Given the description of an element on the screen output the (x, y) to click on. 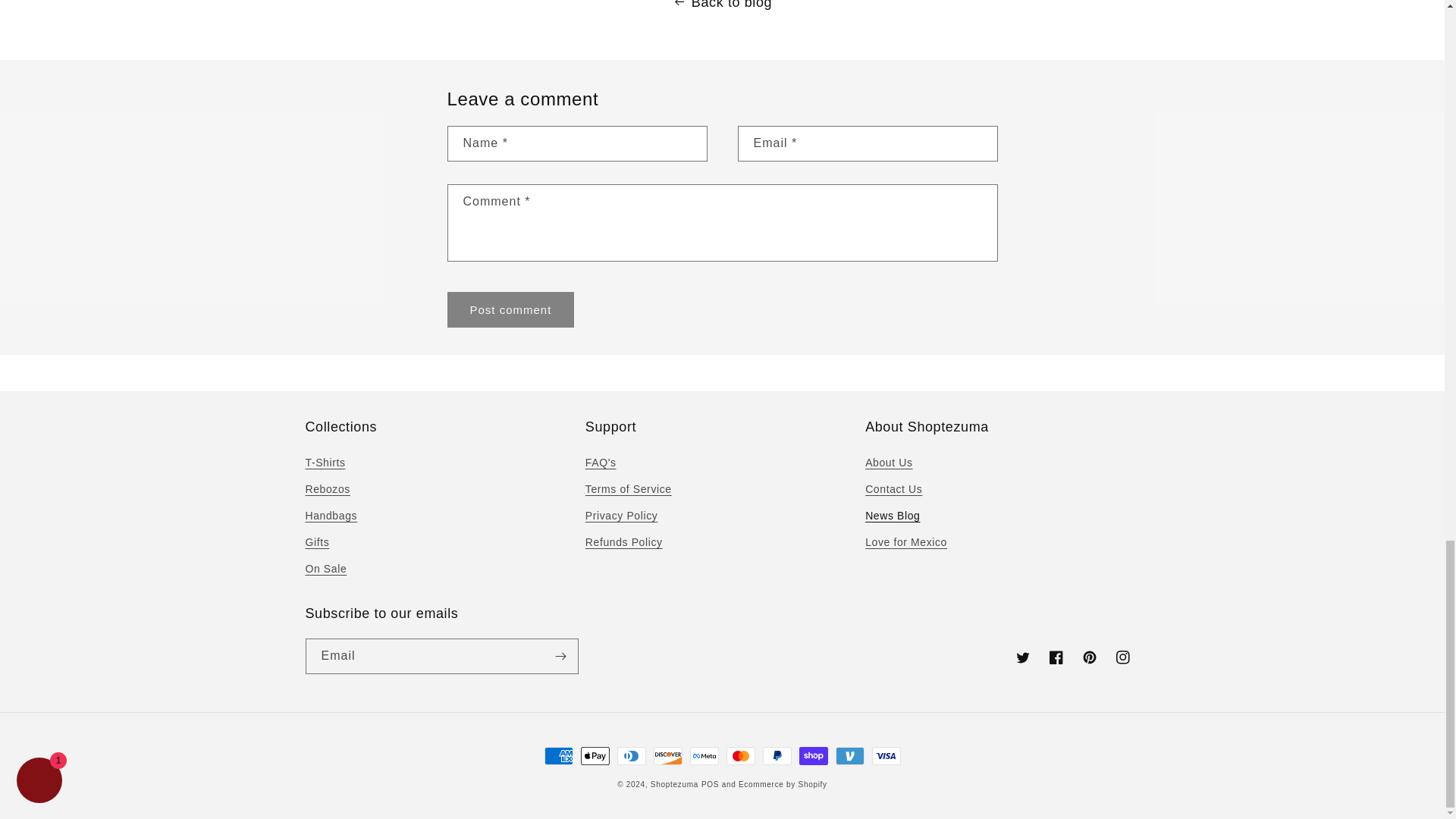
Post comment (510, 309)
